Given the description of an element on the screen output the (x, y) to click on. 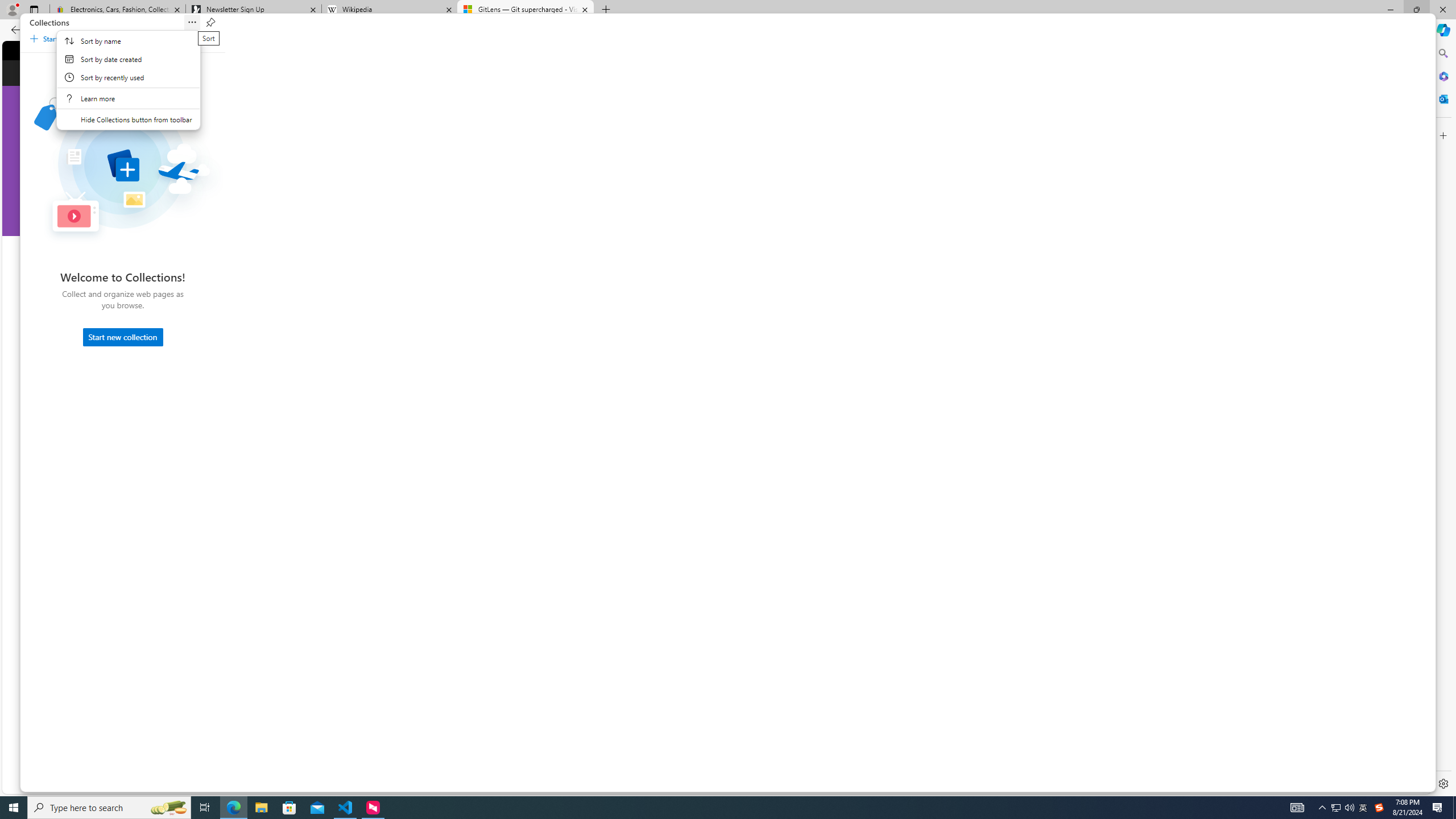
Sort by date created (128, 58)
Sort by name (128, 40)
Start new collection (122, 336)
Learn More About Collections (128, 98)
Context (128, 80)
Pin Collections (210, 22)
Sort by recently used (128, 76)
Hide Collections button from toolbar (128, 119)
Sort (192, 22)
Context (128, 87)
